Given the description of an element on the screen output the (x, y) to click on. 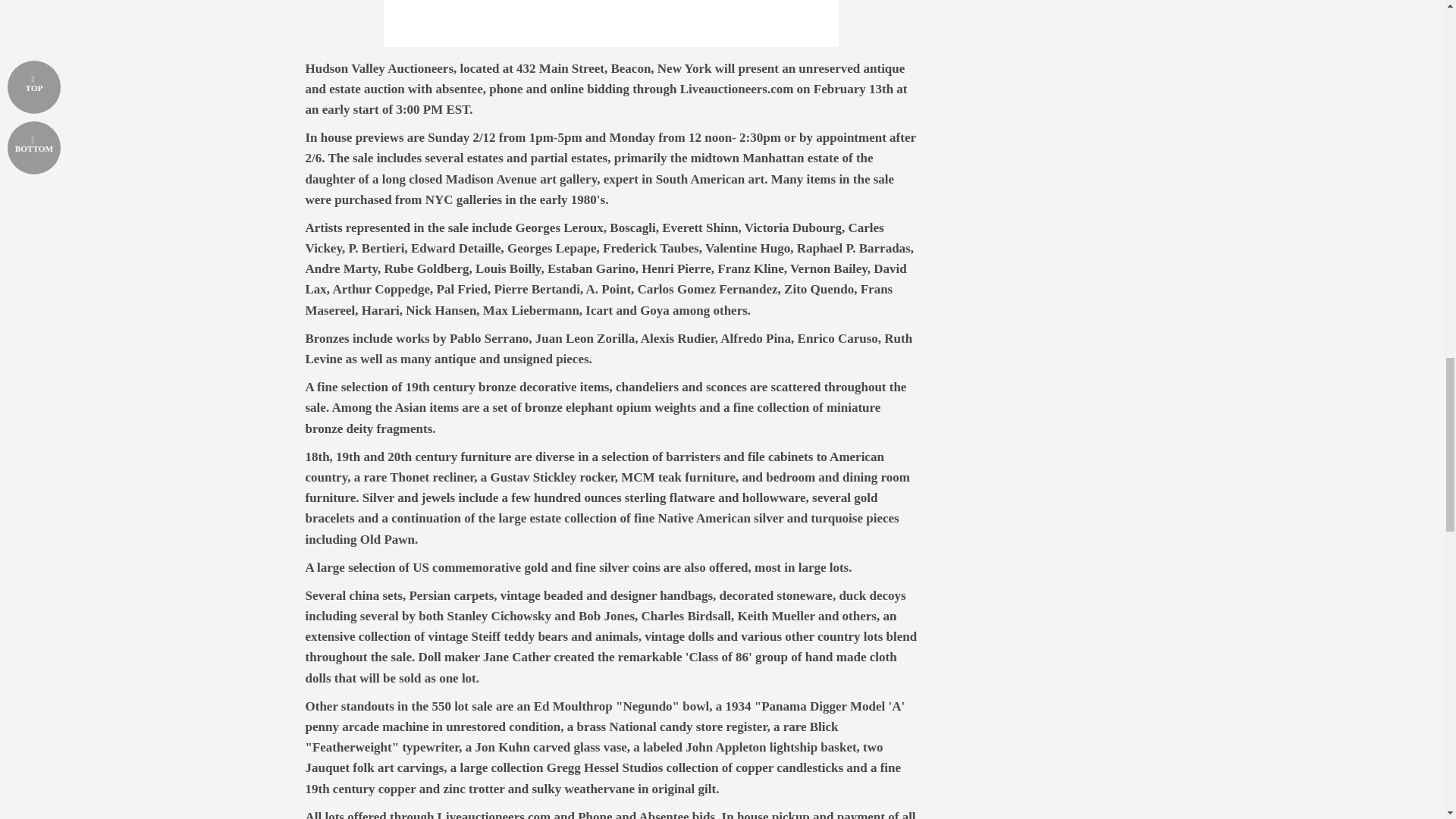
Flier-febr-13-JPG (611, 23)
